Given the description of an element on the screen output the (x, y) to click on. 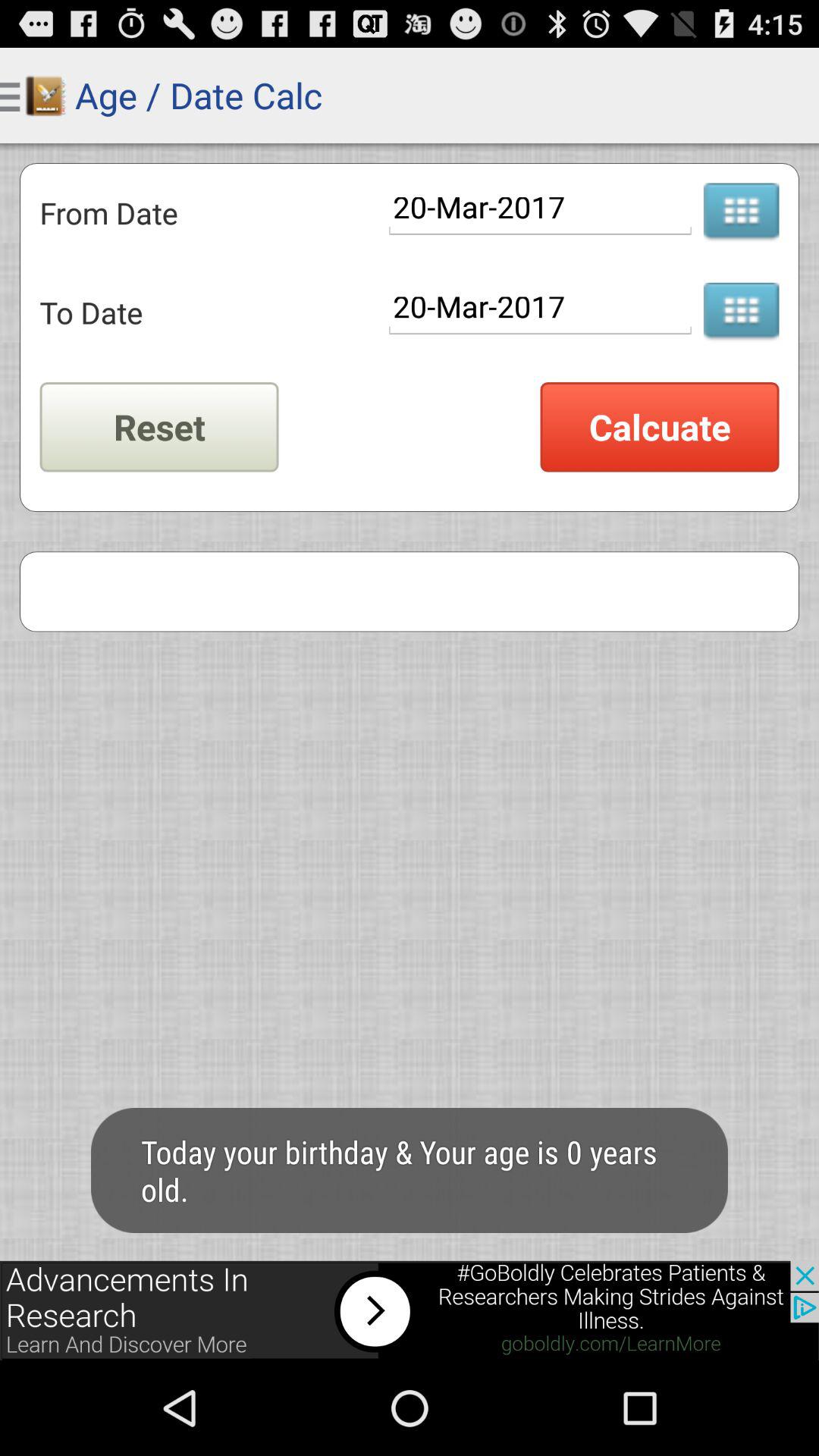
visit advertiser (409, 1310)
